Given the description of an element on the screen output the (x, y) to click on. 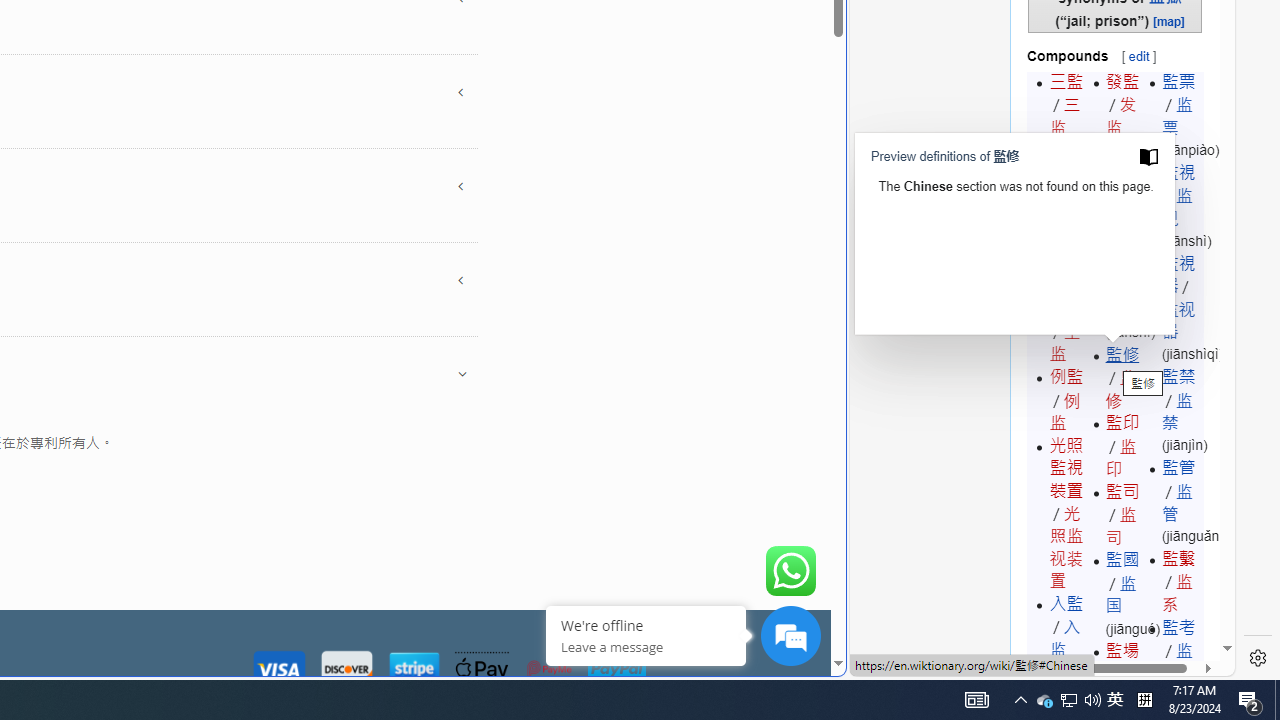
google_privacy_policy_zh-CN.pdf (687, 482)
Global web icon (888, 663)
Actions for this site (1129, 306)
MSN (687, 223)
edit (1138, 56)
